Given the description of an element on the screen output the (x, y) to click on. 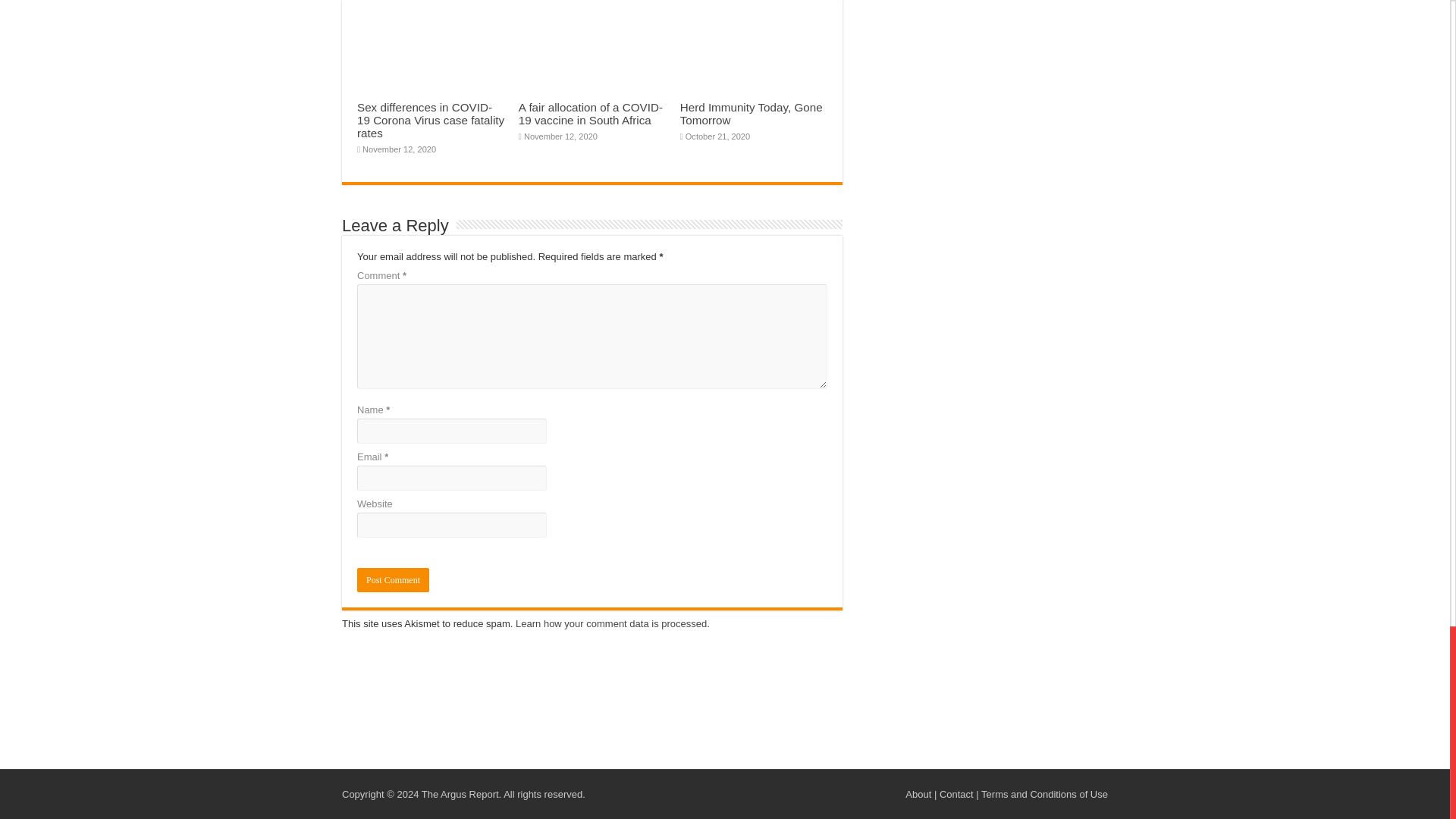
Post Comment (392, 580)
